Given the description of an element on the screen output the (x, y) to click on. 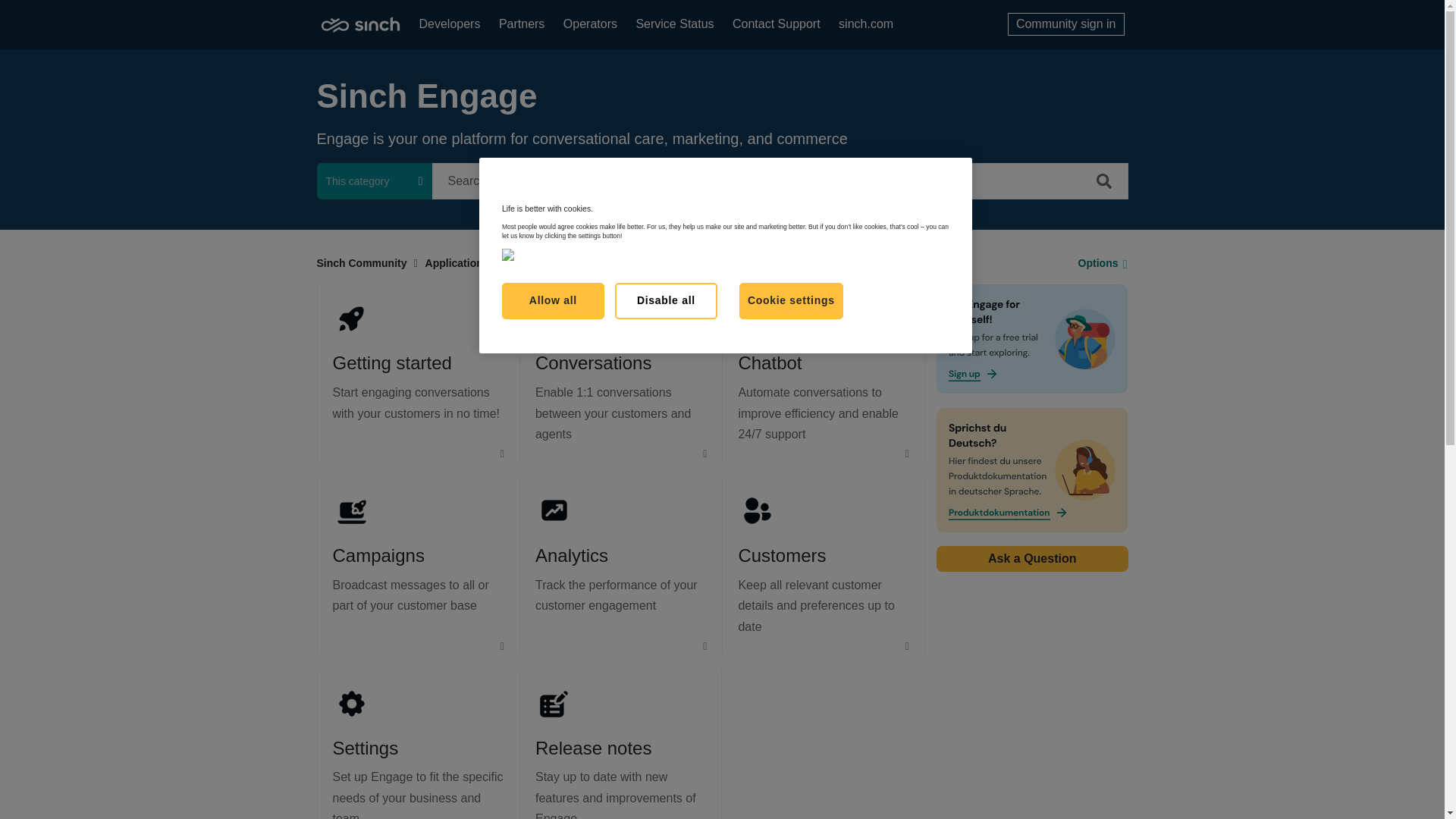
Sinch Community (359, 24)
Settings (364, 747)
Search Granularity (374, 180)
Getting started (391, 362)
sinch.com (866, 23)
Sinch Community (362, 263)
Developers (448, 23)
Community sign in (1065, 24)
Chatbot (770, 362)
Contact Support (776, 23)
